Given the description of an element on the screen output the (x, y) to click on. 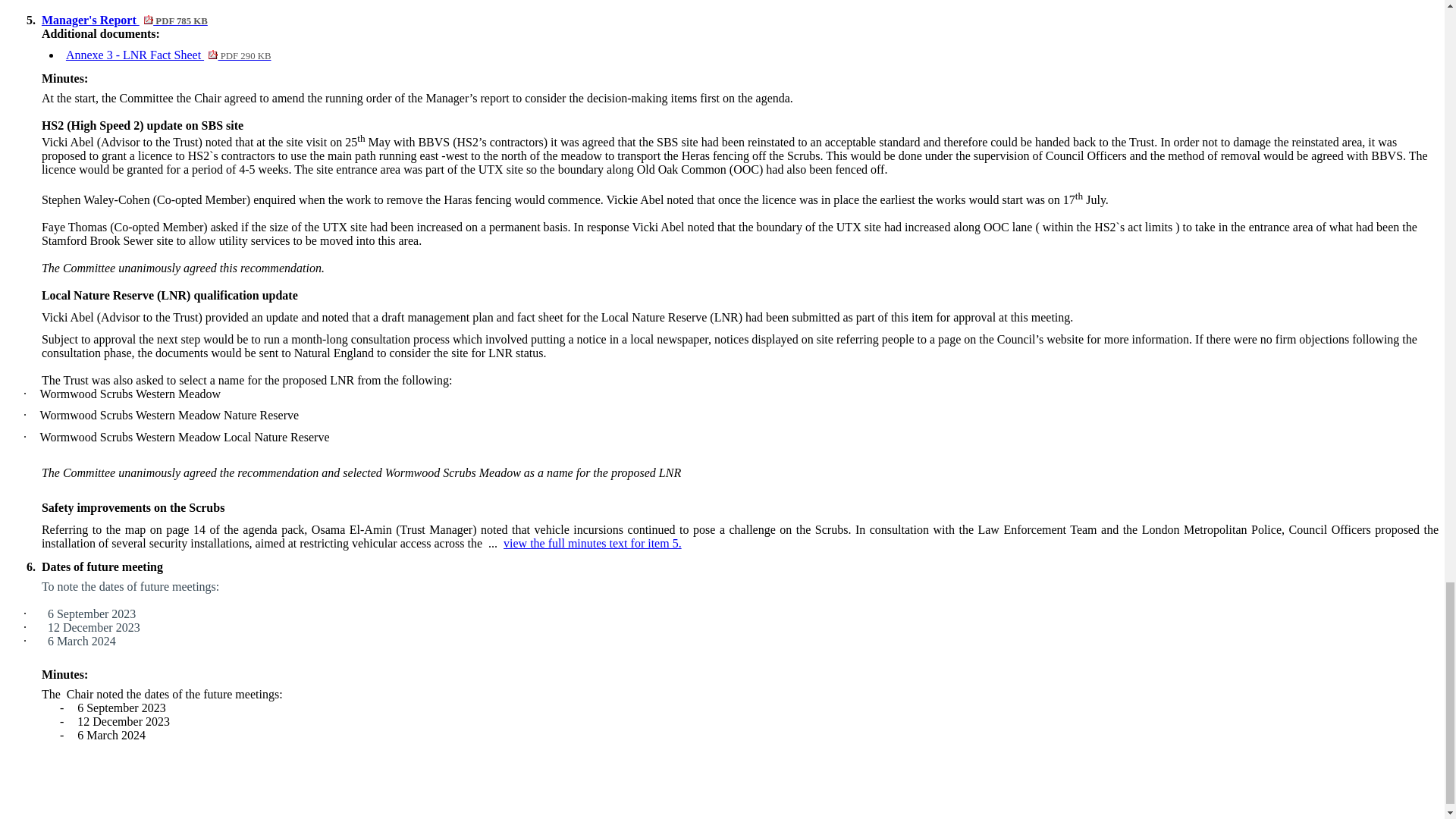
Link to document 'Manager's Report' pdf file (125, 19)
Link to document 'Annexe 3 - LNR Fact Sheet' pdf file (167, 54)
